Given the description of an element on the screen output the (x, y) to click on. 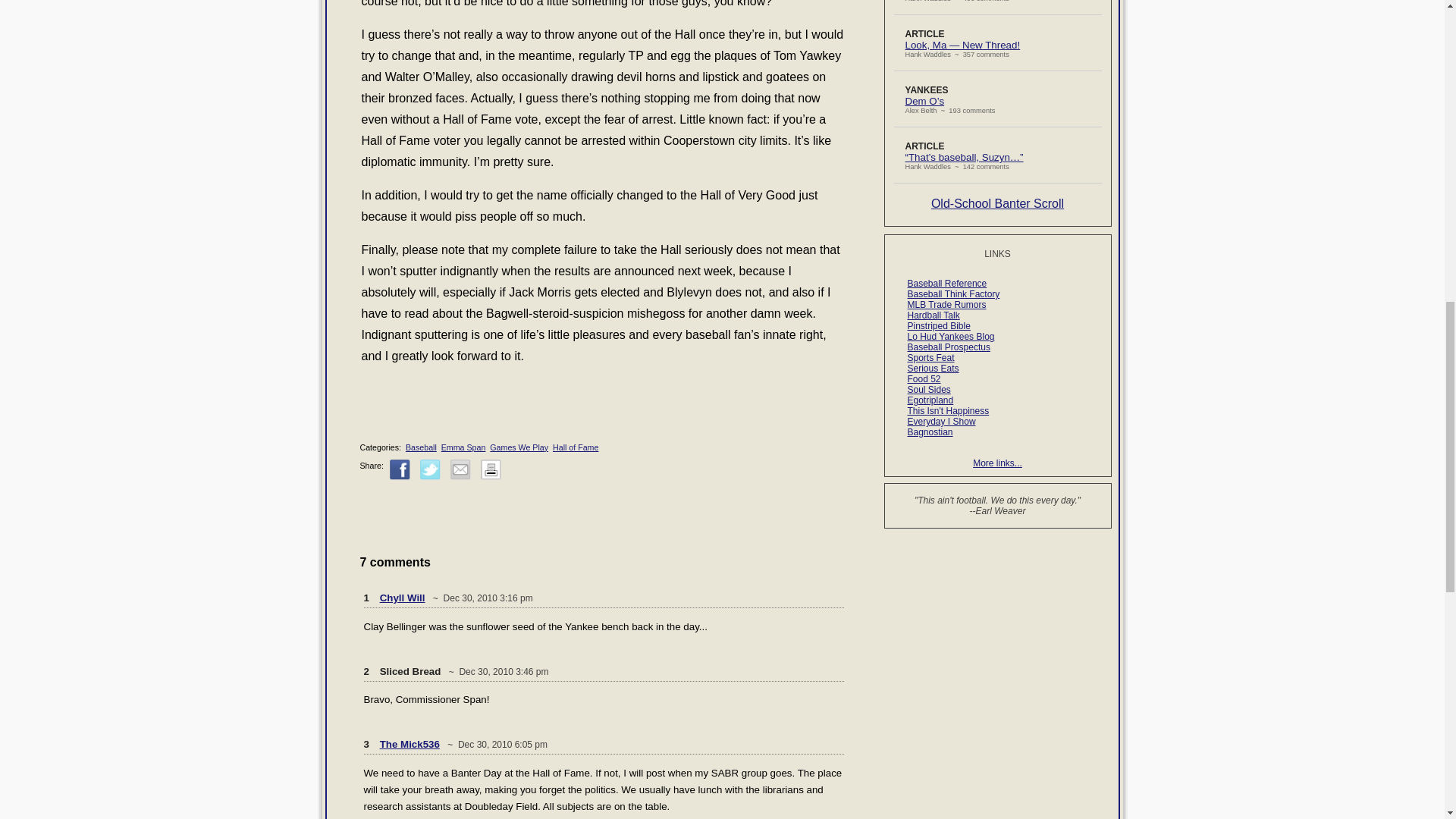
Print This Post (490, 469)
Share via email (459, 469)
Share on Twitter (430, 469)
Print This Post (490, 476)
Share on Facebook (400, 469)
